Given the description of an element on the screen output the (x, y) to click on. 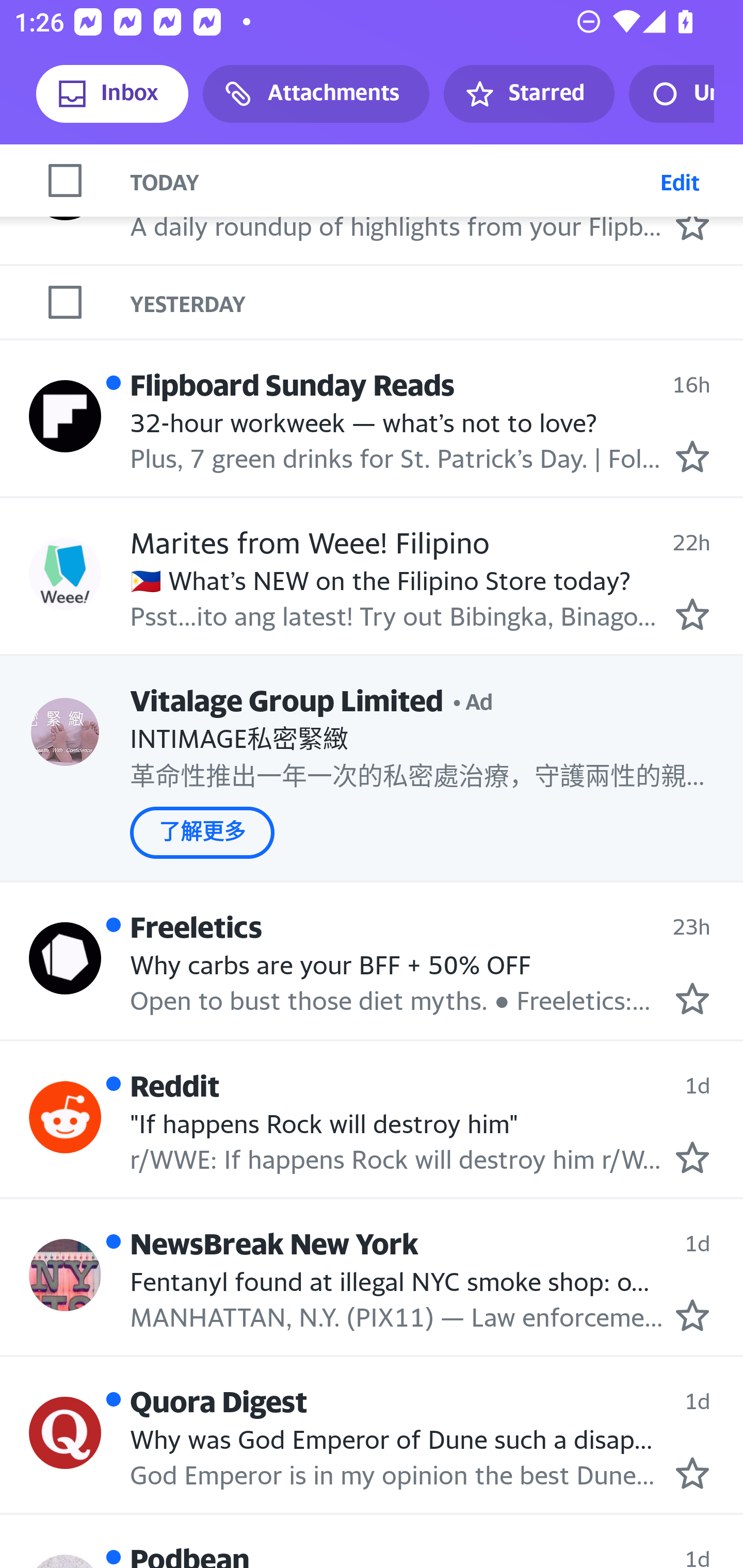
Attachments (315, 93)
Starred (528, 93)
Profile
Flipboard (64, 183)
Mark as starred. (692, 224)
YESTERDAY (436, 301)
Profile
Flipboard Sunday Reads (64, 415)
Mark as starred. (692, 457)
Profile
Marites from Weee! Filipino (64, 573)
Mark as starred. (692, 613)
Profile
Freeletics (64, 957)
Mark as starred. (692, 998)
Profile
Reddit (64, 1117)
Mark as starred. (692, 1157)
Profile
NewsBreak New York (64, 1274)
Mark as starred. (692, 1314)
Profile
Quora Digest (64, 1433)
Mark as starred. (692, 1473)
